Given the description of an element on the screen output the (x, y) to click on. 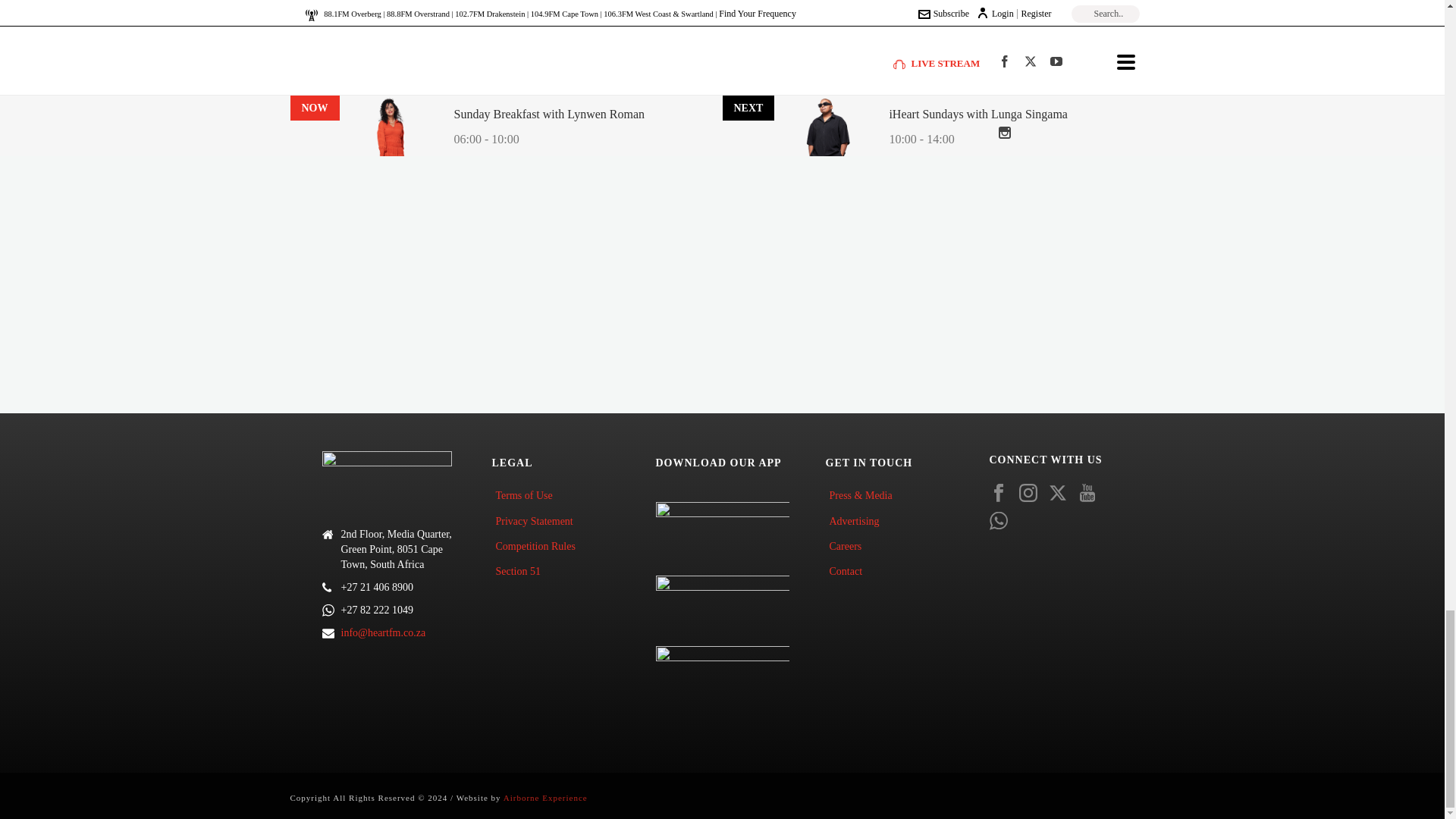
Advocacy group slams decision to release killer cop (427, 106)
Follow Us on youtube (1087, 494)
Competition Rules (539, 545)
Follow Us on twitter (1056, 494)
Follow Us on whatsapp (997, 521)
Follow Us on facebook (997, 494)
Follow Us on instagram (1027, 494)
Privacy Statement (537, 520)
Terms of Use (527, 495)
Wendy Kloppers' alleged murderer in court (408, 7)
Section 51 (521, 570)
Alleged killer arrested (364, 40)
Water outage for some Cape Town suburbs (408, 73)
